Given the description of an element on the screen output the (x, y) to click on. 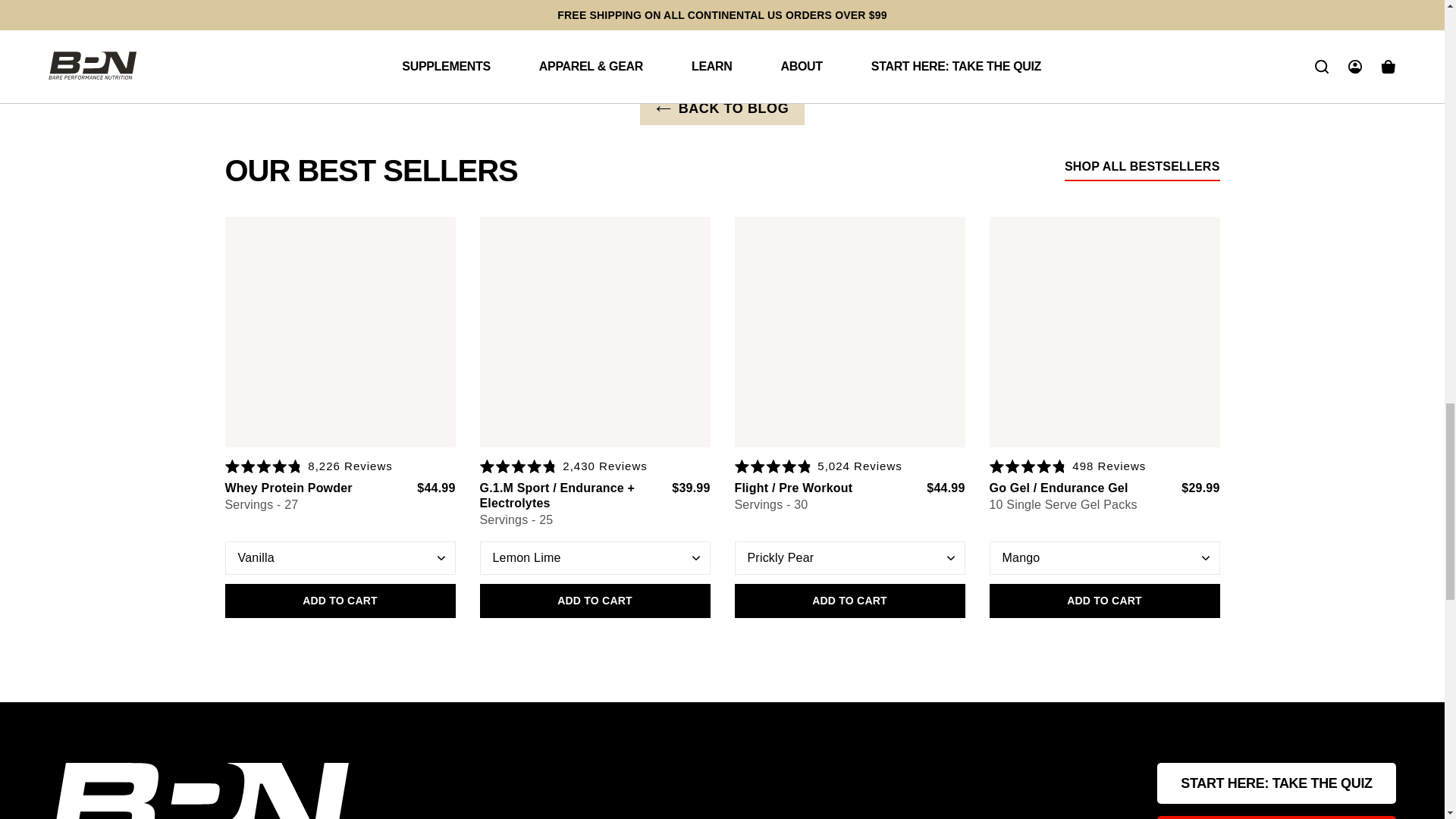
Product variant selector (848, 557)
Add to cart (339, 601)
Add to cart (594, 601)
Product variant selector (594, 557)
Product variant selector (1104, 557)
Add to cart (848, 601)
Product variant selector (339, 557)
Add to cart (1104, 601)
